Given the description of an element on the screen output the (x, y) to click on. 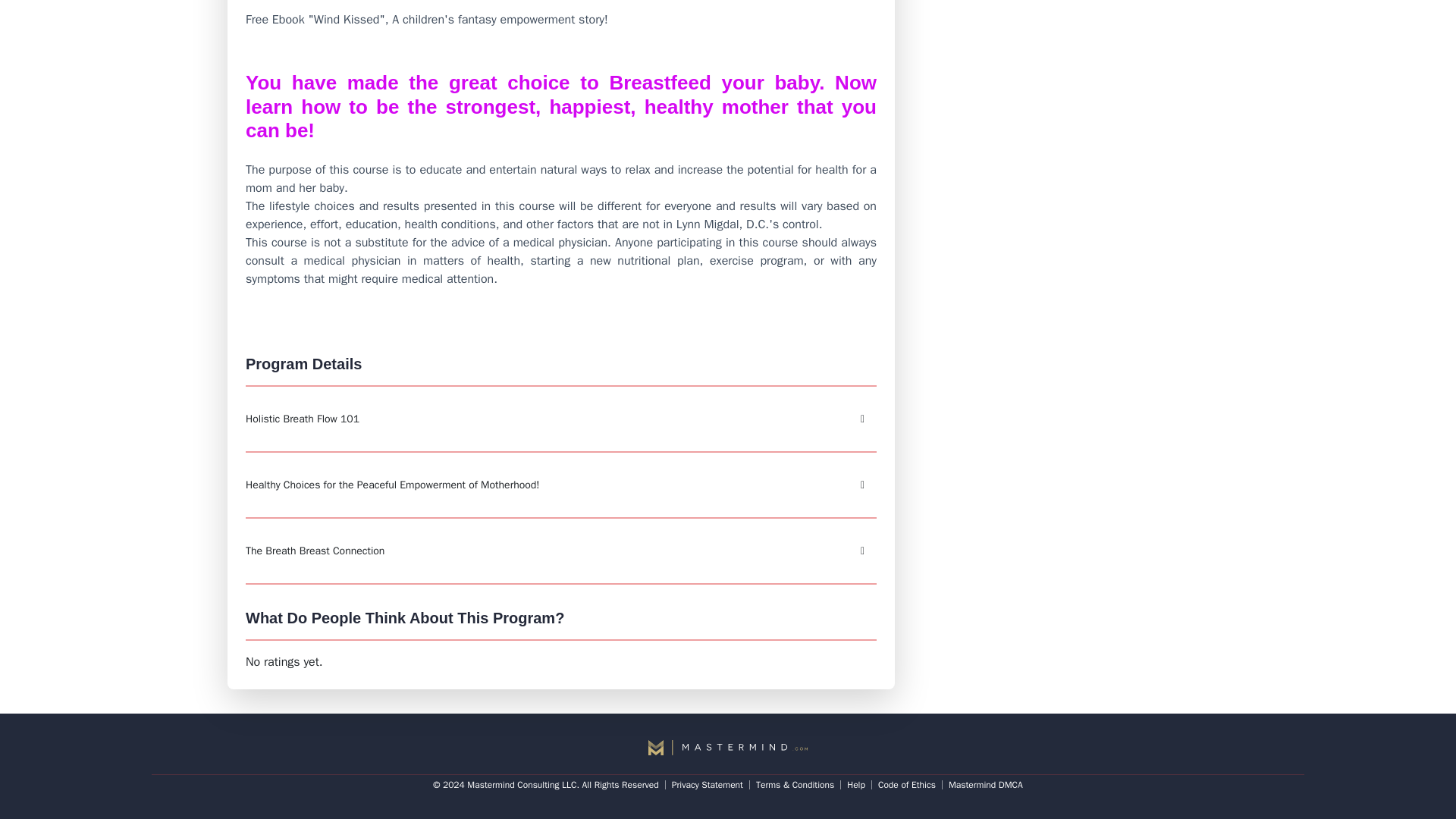
The Breath Breast Connection (561, 550)
Code of Ethics (906, 784)
Privacy Statement (706, 784)
Healthy Choices for the Peaceful Empowerment of Motherhood! (561, 485)
Help (855, 784)
Holistic Breath Flow 101 (561, 418)
Mastermind DMCA (986, 784)
